Given the description of an element on the screen output the (x, y) to click on. 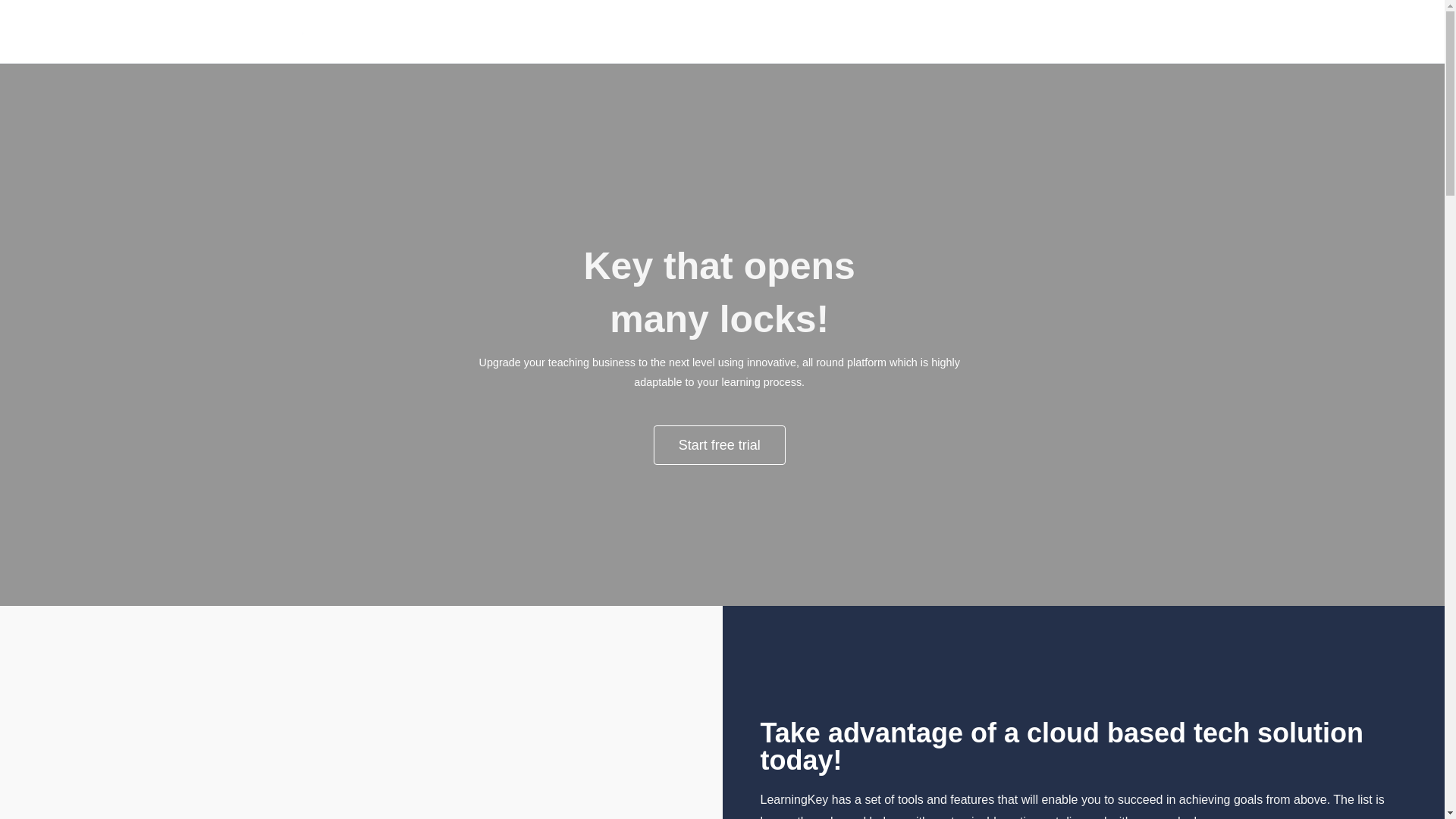
LearningKey (533, 41)
Home (1147, 31)
Start free trial (719, 445)
